Given the description of an element on the screen output the (x, y) to click on. 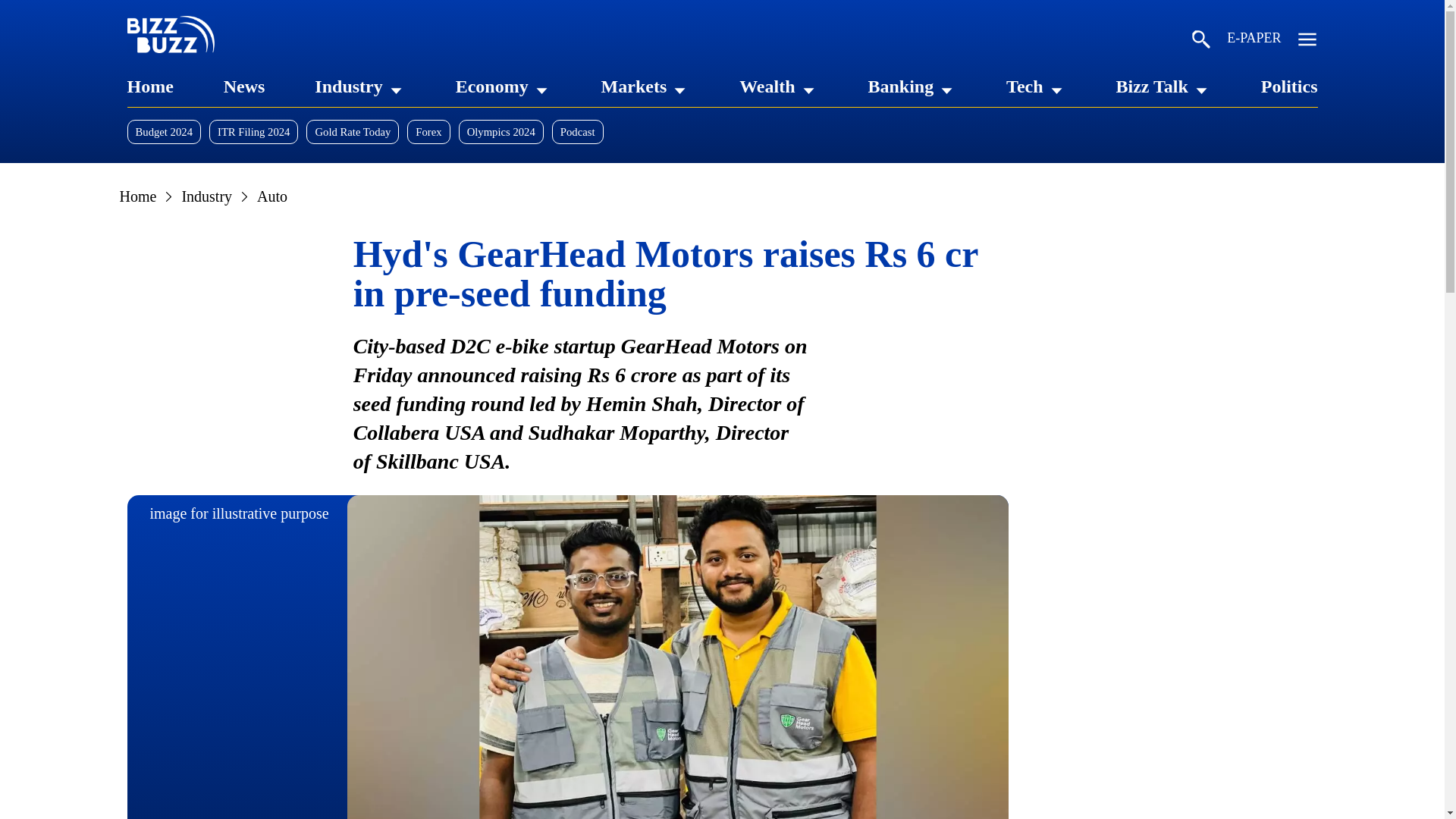
Markets (633, 86)
Economy (491, 86)
Home (150, 86)
Industry (347, 86)
News (244, 86)
E-PAPER (1254, 41)
Wealth (766, 86)
